Given the description of an element on the screen output the (x, y) to click on. 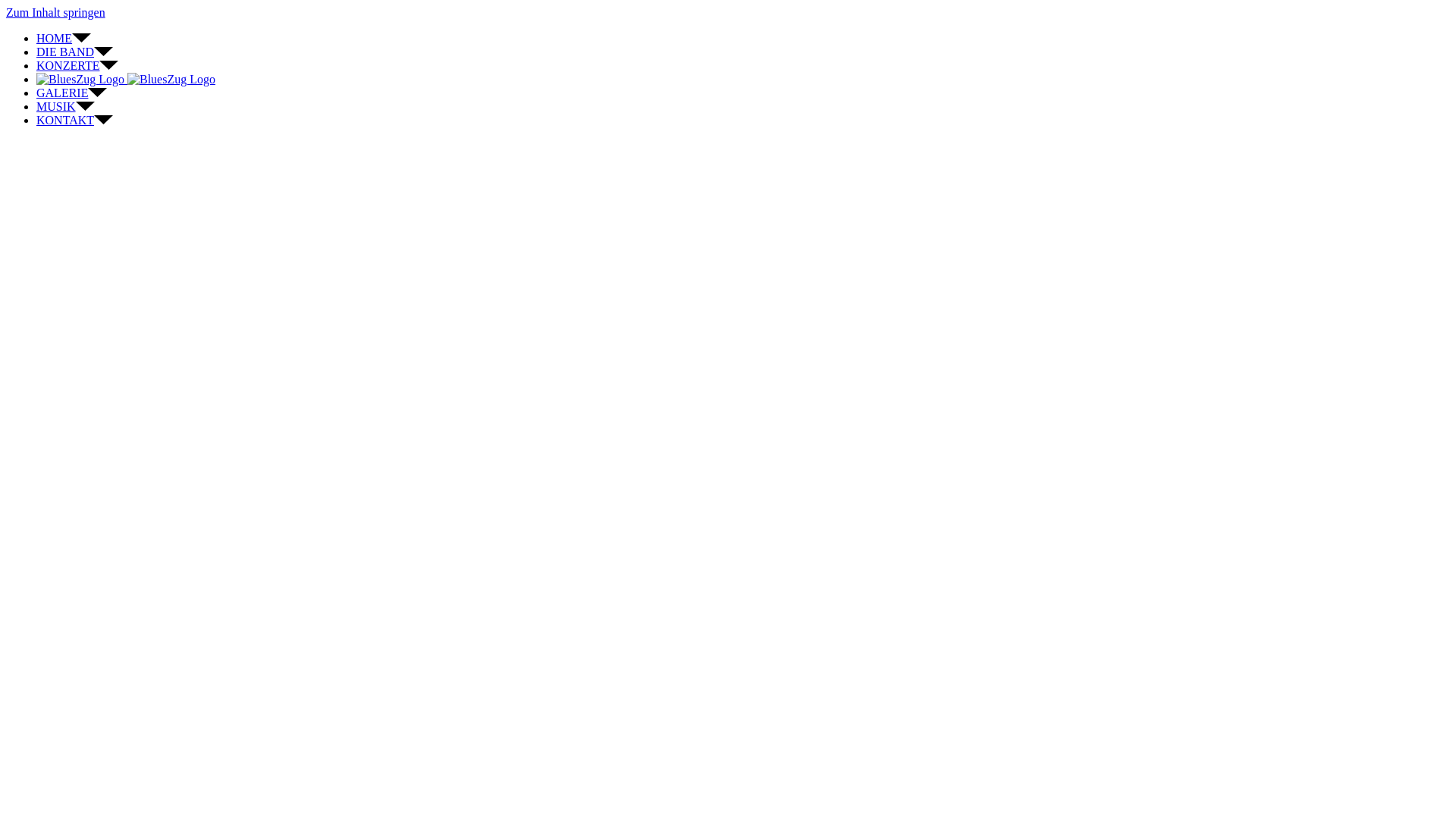
KONTAKT Element type: text (74, 119)
DIE BAND Element type: text (74, 51)
KONZERTE Element type: text (77, 65)
Zum Inhalt springen Element type: text (55, 12)
HOME Element type: text (63, 37)
GALERIE Element type: text (71, 92)
MUSIK Element type: text (65, 106)
